Given the description of an element on the screen output the (x, y) to click on. 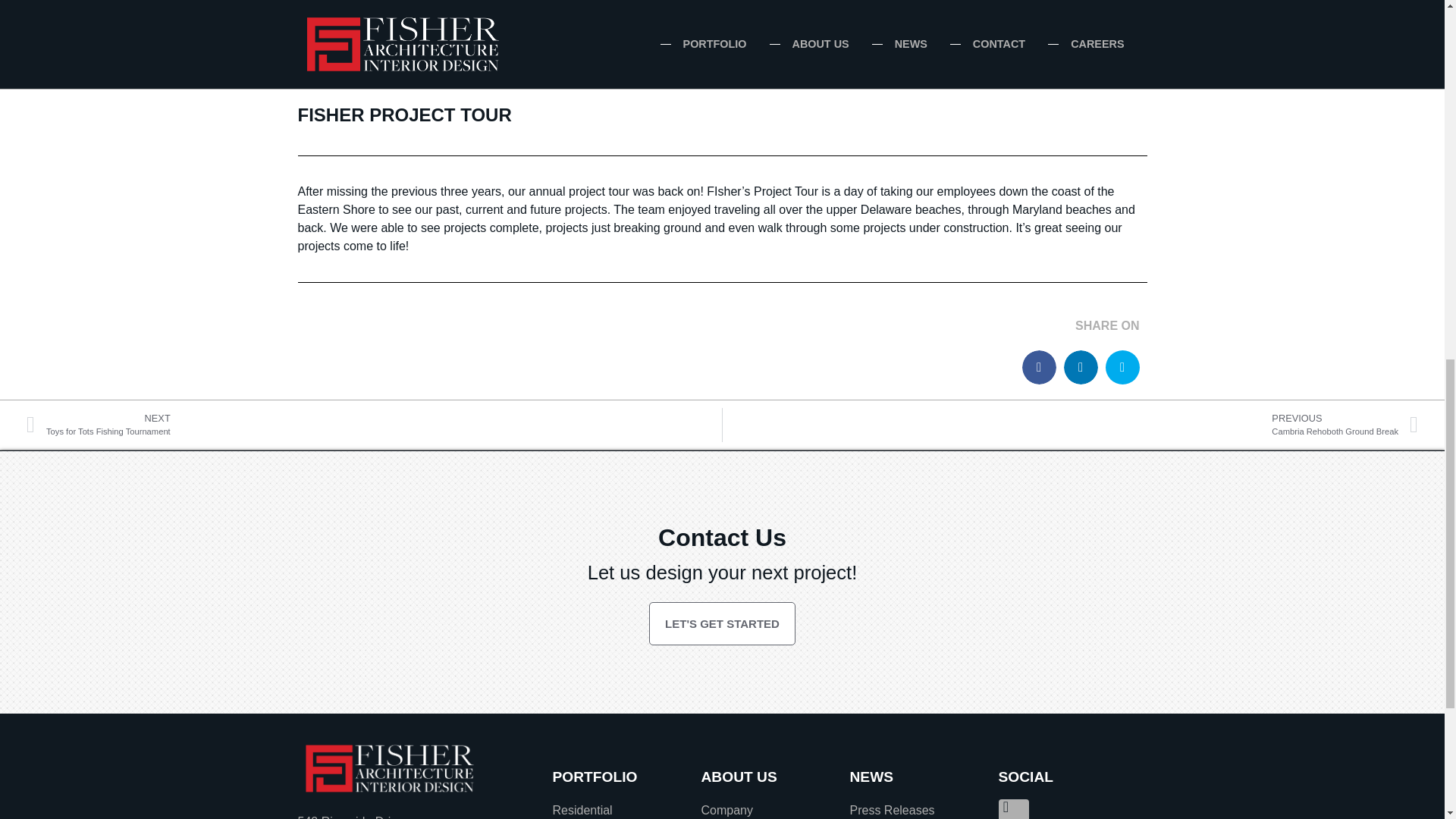
LET'S GET STARTED (721, 623)
Residential (1075, 424)
